Given the description of an element on the screen output the (x, y) to click on. 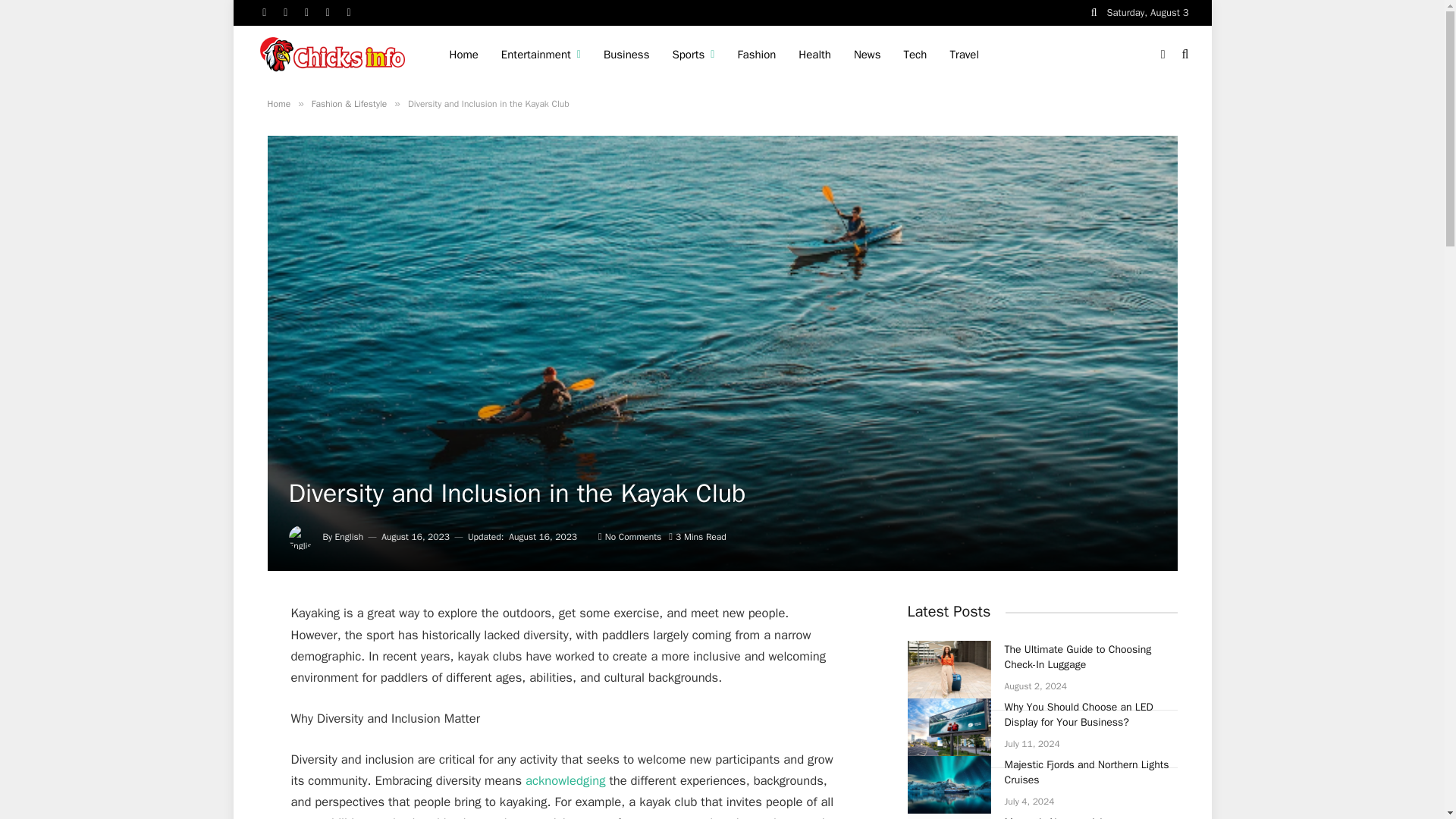
Chicksinfo.com (334, 53)
Home (463, 54)
Switch to Dark Design - easier on eyes. (1163, 54)
Posts by English (349, 536)
Diversity and Inclusion in the Kayak Club (563, 780)
Entertainment (540, 54)
